Given the description of an element on the screen output the (x, y) to click on. 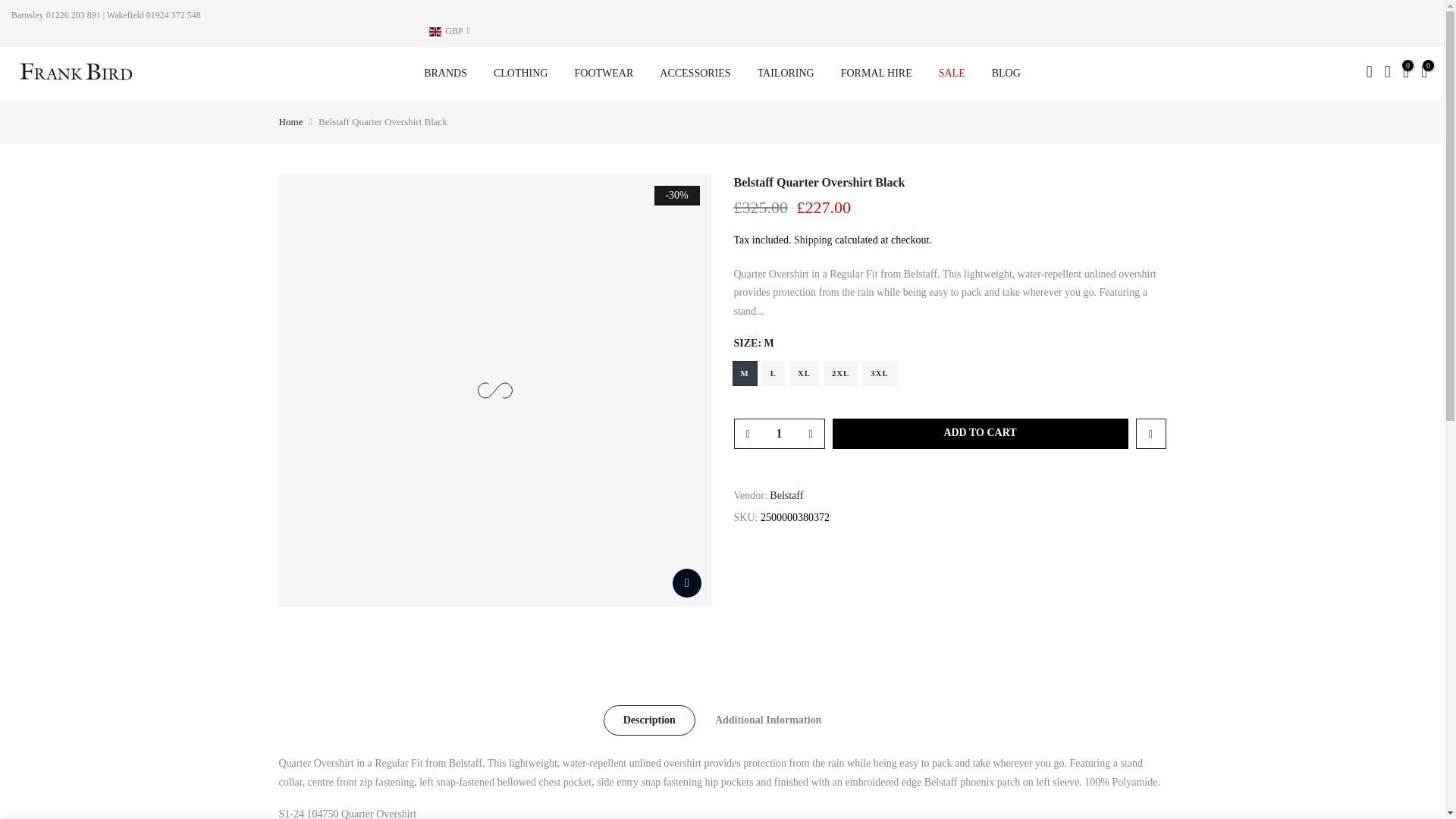
Belstaff (786, 496)
01226 203 891 (71, 14)
01924 372 548 (172, 14)
1 (778, 433)
